Given the description of an element on the screen output the (x, y) to click on. 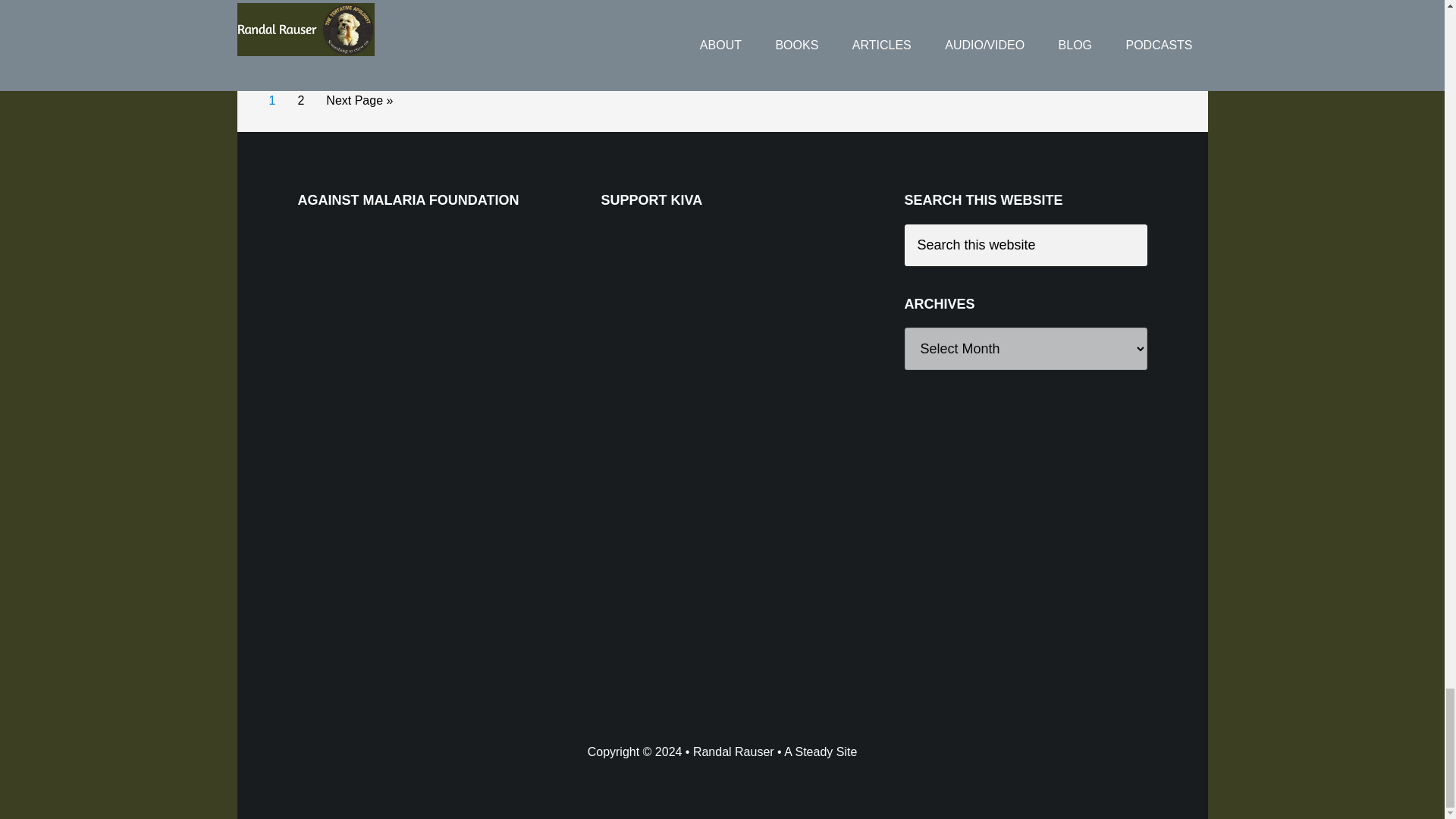
Against Malaria Foundation (410, 338)
Support Kiva (713, 338)
